Given the description of an element on the screen output the (x, y) to click on. 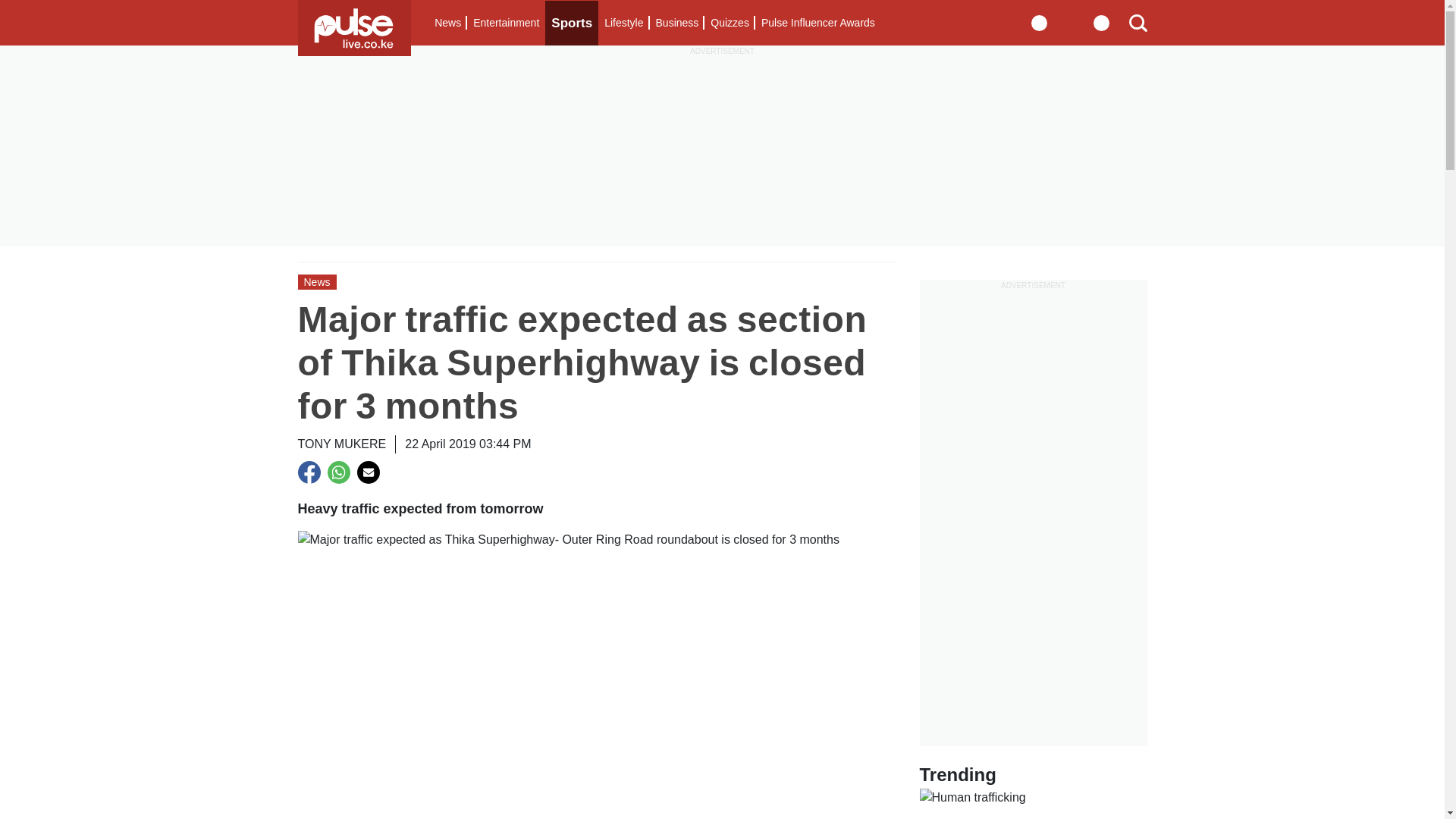
Quizzes (729, 22)
Pulse Influencer Awards (817, 22)
Lifestyle (623, 22)
Business (676, 22)
Sports (571, 22)
Entertainment (505, 22)
